Given the description of an element on the screen output the (x, y) to click on. 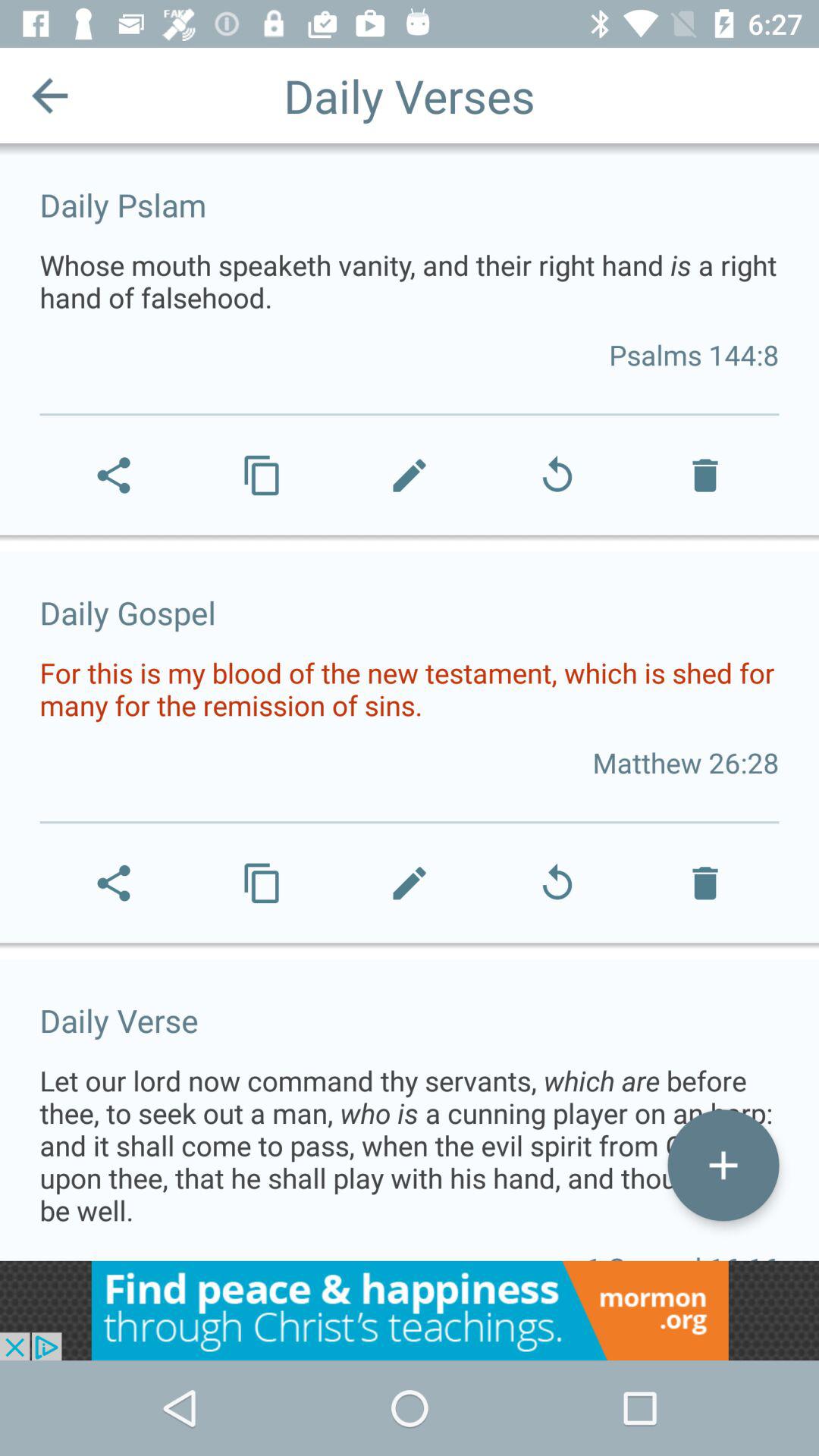
advertisement (409, 1310)
